Given the description of an element on the screen output the (x, y) to click on. 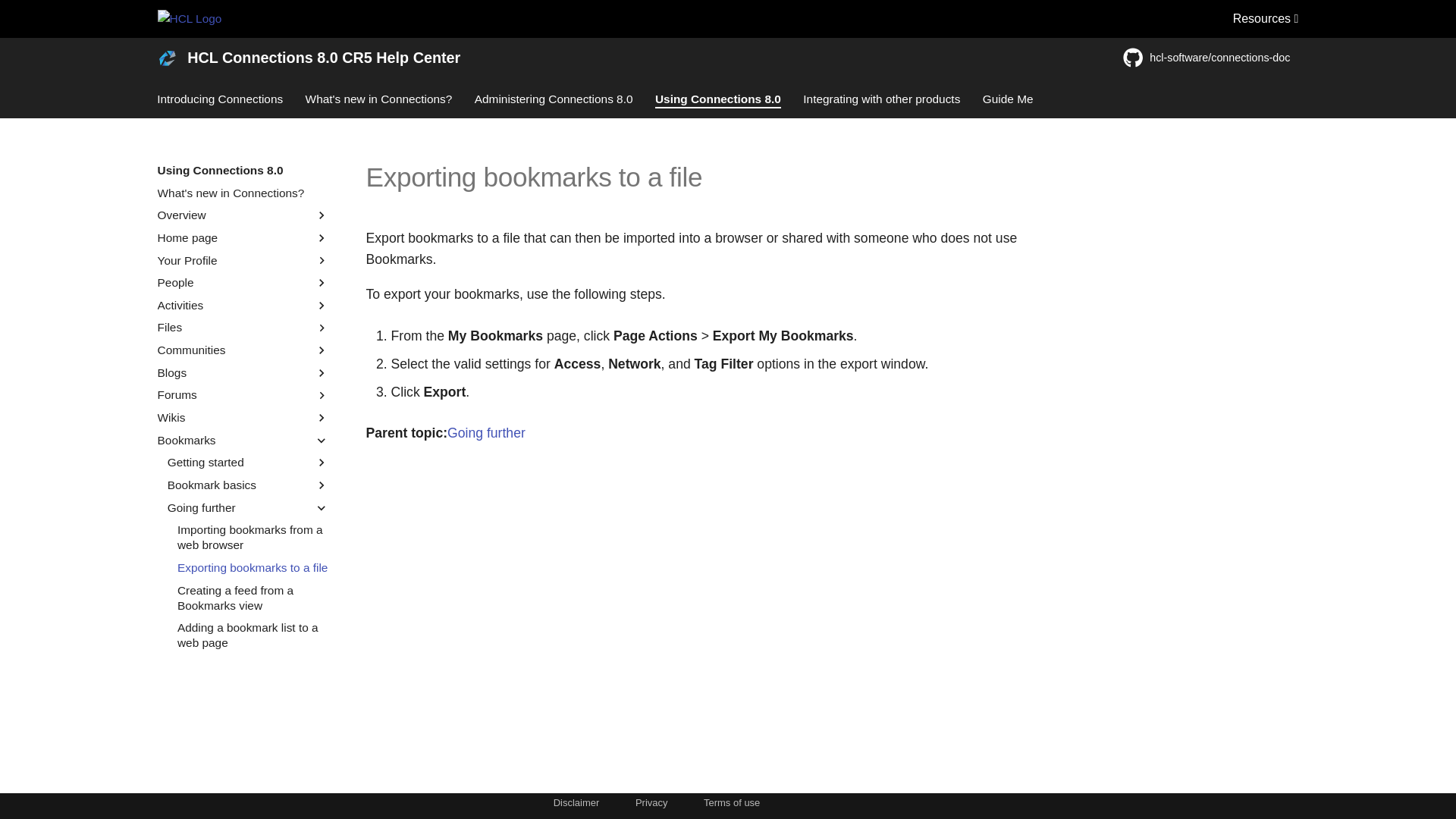
Introducing Connections (220, 98)
HCL Connections 8.0 CR5 Help Center (167, 57)
Integrating with other products (881, 98)
Using Connections 8.0 (717, 98)
Administering Connections 8.0 (553, 98)
Guide Me (1007, 98)
What's new in Connections? (378, 98)
Go to repository (1210, 57)
Resources (1265, 18)
